Given the description of an element on the screen output the (x, y) to click on. 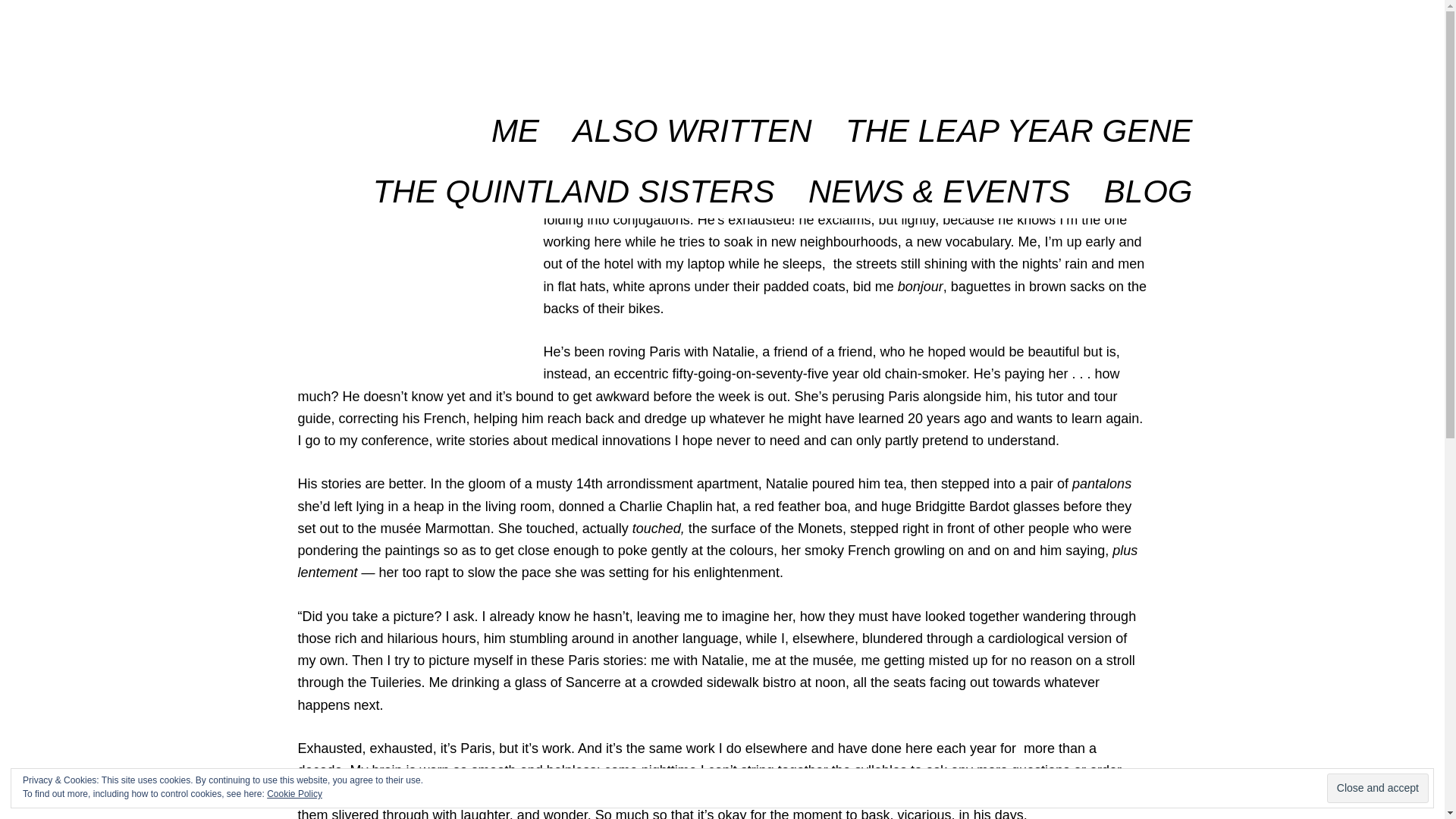
ME (515, 120)
THE QUINTLAND SISTERS (574, 181)
Shelley Wood (396, 160)
THE LEAP YEAR GENE (1018, 120)
Shelley Wood (357, 45)
Close and accept (1377, 788)
BLOG (1148, 181)
Cookie Policy (293, 793)
ALSO WRITTEN (692, 120)
